Given the description of an element on the screen output the (x, y) to click on. 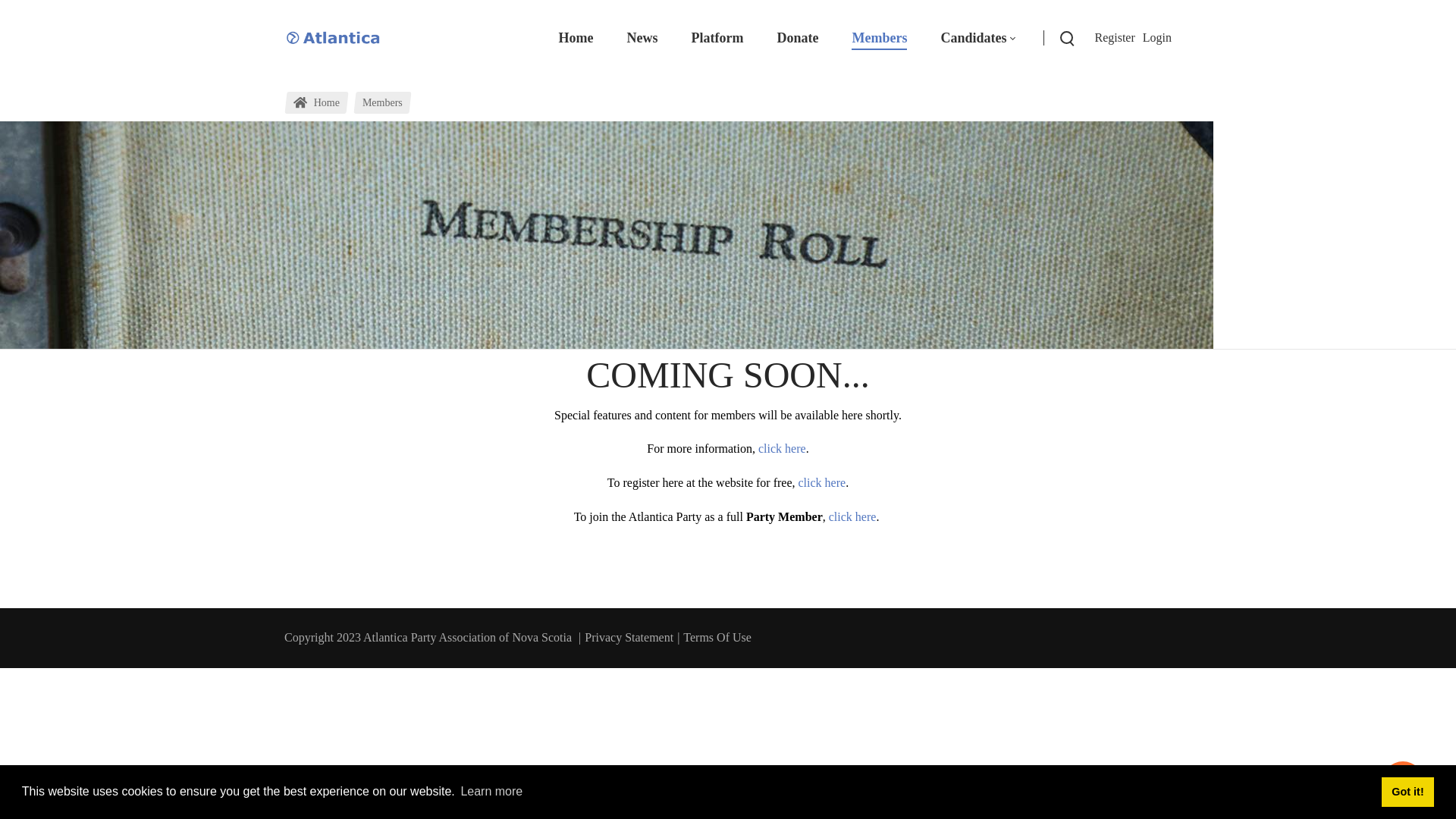
Members Element type: text (878, 38)
Privacy Statement Element type: text (628, 636)
Platform Element type: text (716, 38)
Got it! Element type: text (1407, 791)
Members Element type: text (382, 102)
Login Element type: text (1156, 38)
click here Element type: text (822, 482)
Terms Of Use Element type: text (717, 636)
Atlantica Party Element type: hover (339, 37)
Home Element type: text (575, 38)
Learn more Element type: text (491, 791)
Home Element type: text (316, 102)
Register Element type: text (1114, 38)
Donate Element type: text (796, 38)
click here Element type: text (852, 516)
News Element type: text (641, 38)
Candidates Element type: text (977, 38)
click here Element type: text (782, 448)
